Given the description of an element on the screen output the (x, y) to click on. 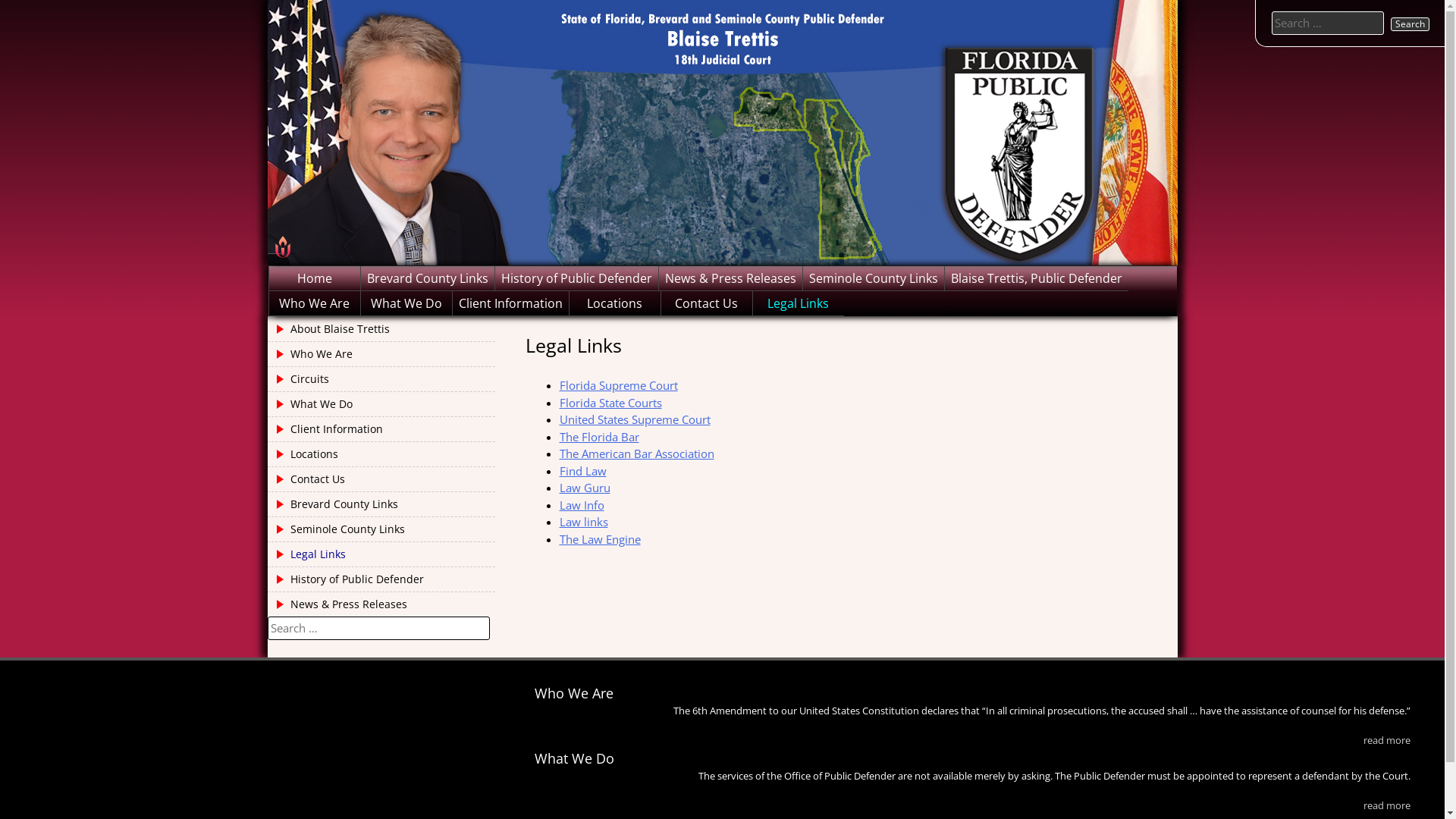
United States Supreme Court Element type: text (634, 418)
Skip to content Element type: text (0, 0)
Florida State Courts Element type: text (610, 401)
Law Info Element type: text (581, 504)
Seminole County Links Element type: text (380, 529)
Client Information Element type: text (380, 429)
Find Law Element type: text (582, 469)
History of Public Defender Element type: text (380, 579)
Who We Are Element type: text (380, 354)
Seminole County Links Element type: text (872, 278)
News & Press Releases Element type: text (729, 278)
Home Element type: text (313, 278)
Brevard County Links Element type: text (380, 504)
Locations Element type: text (380, 454)
History of Public Defender Element type: text (575, 278)
Client Information Element type: text (509, 303)
Law links Element type: text (583, 521)
Legal Links Element type: text (380, 554)
Florida Supreme Court Element type: text (618, 384)
The Law Engine Element type: text (599, 538)
Contact Us Element type: text (706, 303)
News & Press Releases Element type: text (380, 604)
Who We Are Element type: text (313, 303)
Brevard County Links Element type: text (427, 278)
Search Element type: text (1409, 24)
Circuits Element type: text (380, 379)
Brevard and Seminole Public Defender Element type: text (385, 342)
Legal Links Element type: text (797, 303)
About Blaise Trettis Element type: text (380, 328)
read more Element type: text (1386, 739)
Law Guru Element type: text (584, 487)
What We Do Element type: text (405, 303)
Search Element type: text (686, 9)
Contact Us Element type: text (380, 479)
The Florida Bar Element type: text (599, 436)
read more Element type: text (1386, 804)
What We Do Element type: text (380, 404)
Blaise Trettis, Public Defender Element type: text (1036, 278)
Locations Element type: text (613, 303)
The American Bar Association Element type: text (636, 453)
